Given the description of an element on the screen output the (x, y) to click on. 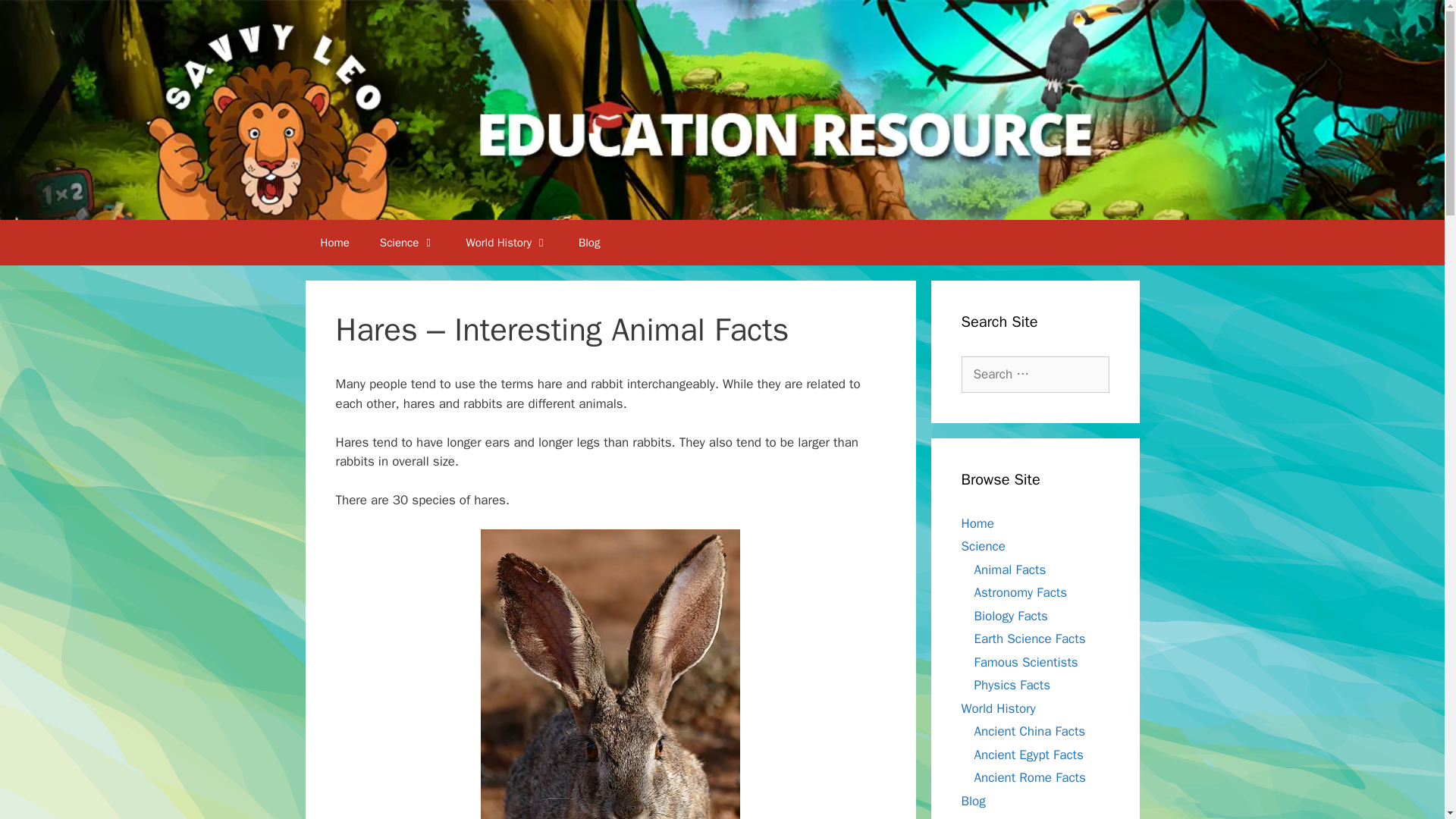
Ancient Egypt Facts (1028, 754)
Ancient China Facts (1029, 731)
Search (35, 18)
Ancient Rome Facts (1029, 777)
Home (977, 523)
Physics Facts (1011, 684)
Earth Science Facts (1029, 638)
Blog (972, 801)
Blog (588, 242)
Astronomy Facts (1020, 592)
